Given the description of an element on the screen output the (x, y) to click on. 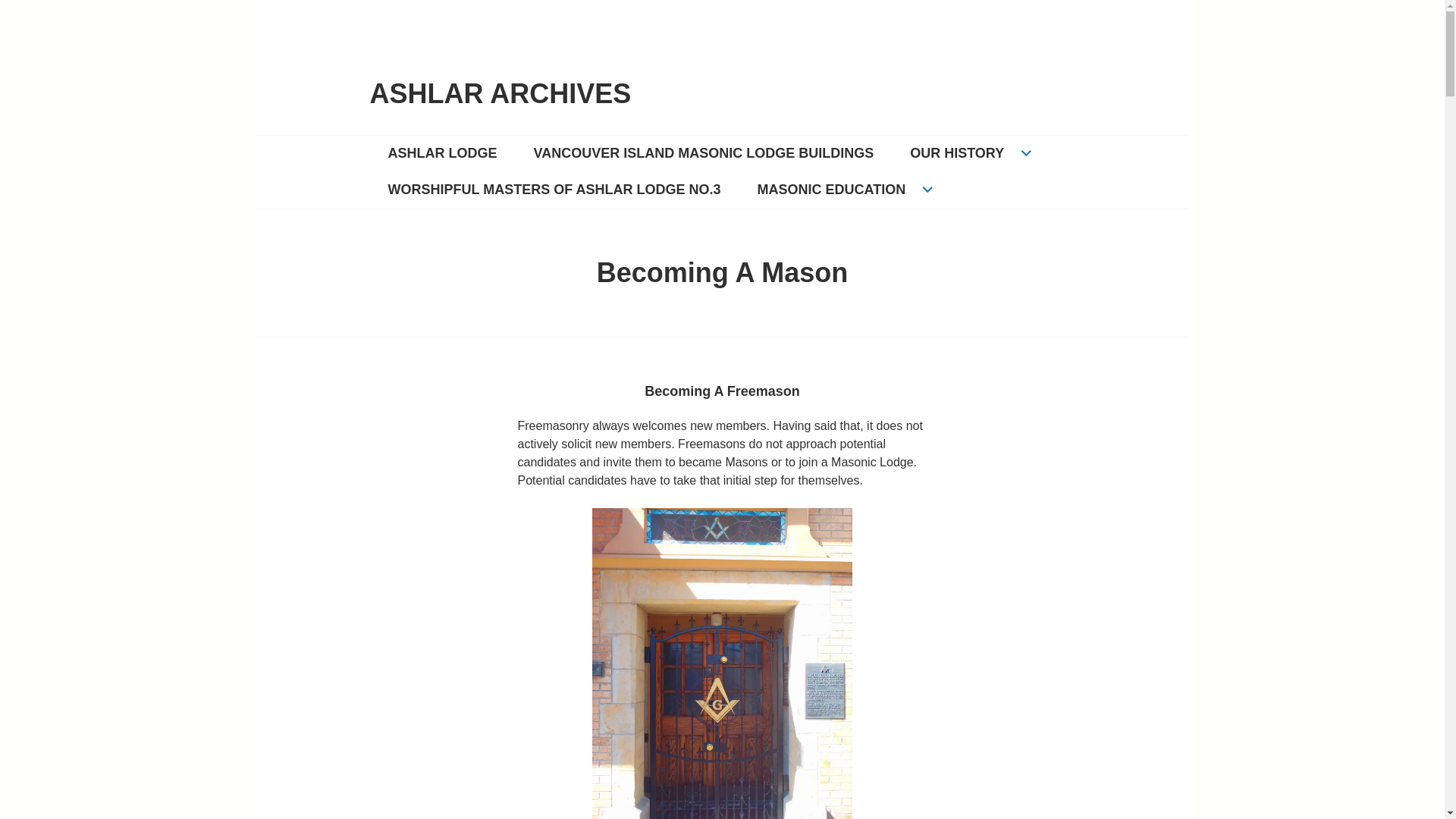
MASONIC EDUCATION (843, 189)
VANCOUVER ISLAND MASONIC LODGE BUILDINGS (703, 153)
ASHLAR LODGE (442, 153)
OUR HISTORY (968, 153)
WORSHIPFUL MASTERS OF ASHLAR LODGE NO.3 (554, 189)
ASHLAR ARCHIVES (500, 94)
